Given the description of an element on the screen output the (x, y) to click on. 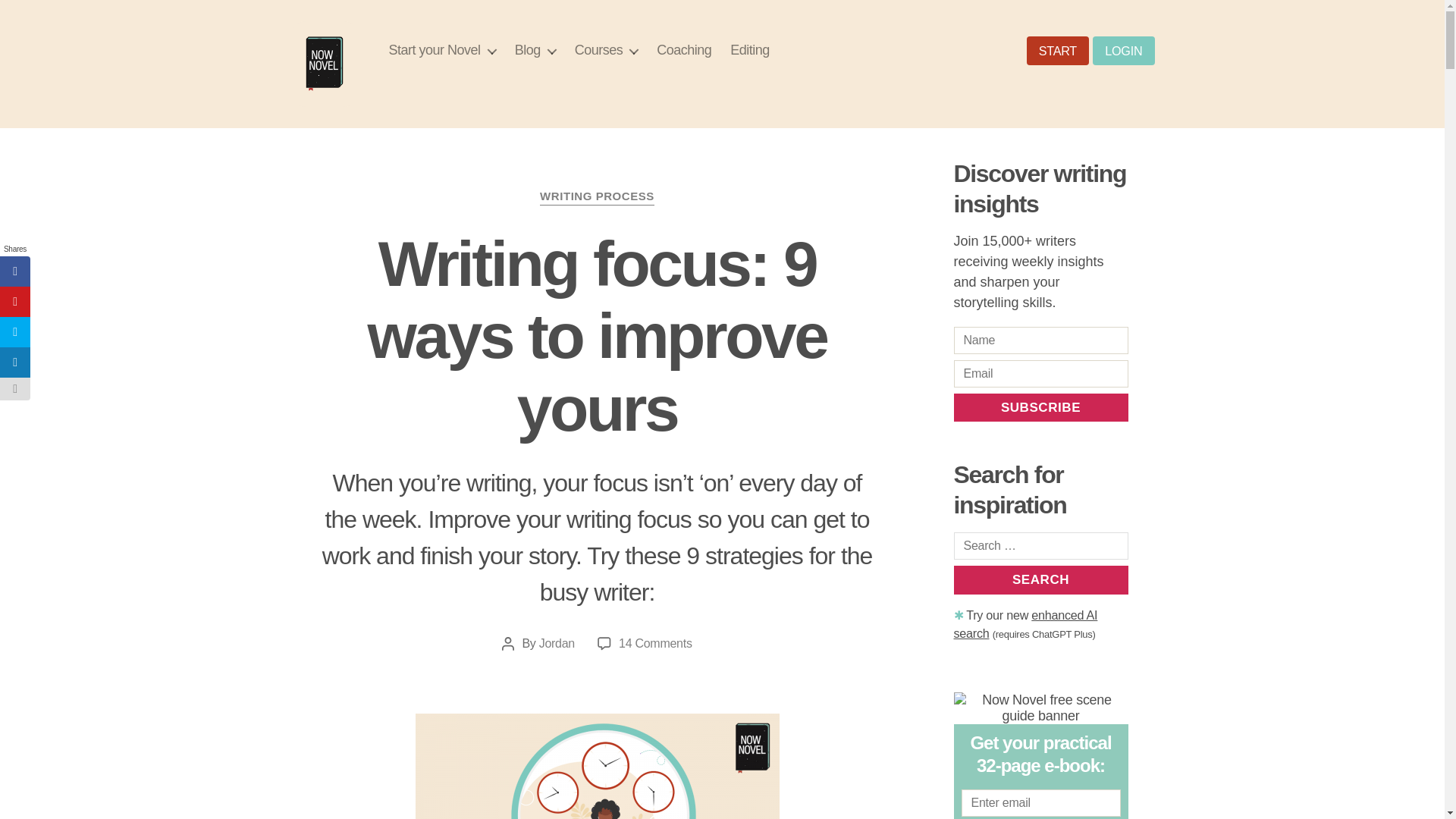
Blog (535, 50)
Courses (607, 50)
Editing (750, 50)
Search (1040, 579)
Subscribe (1040, 407)
Coaching (683, 50)
Search (1040, 579)
START (1057, 50)
Start your Novel (442, 50)
